Given the description of an element on the screen output the (x, y) to click on. 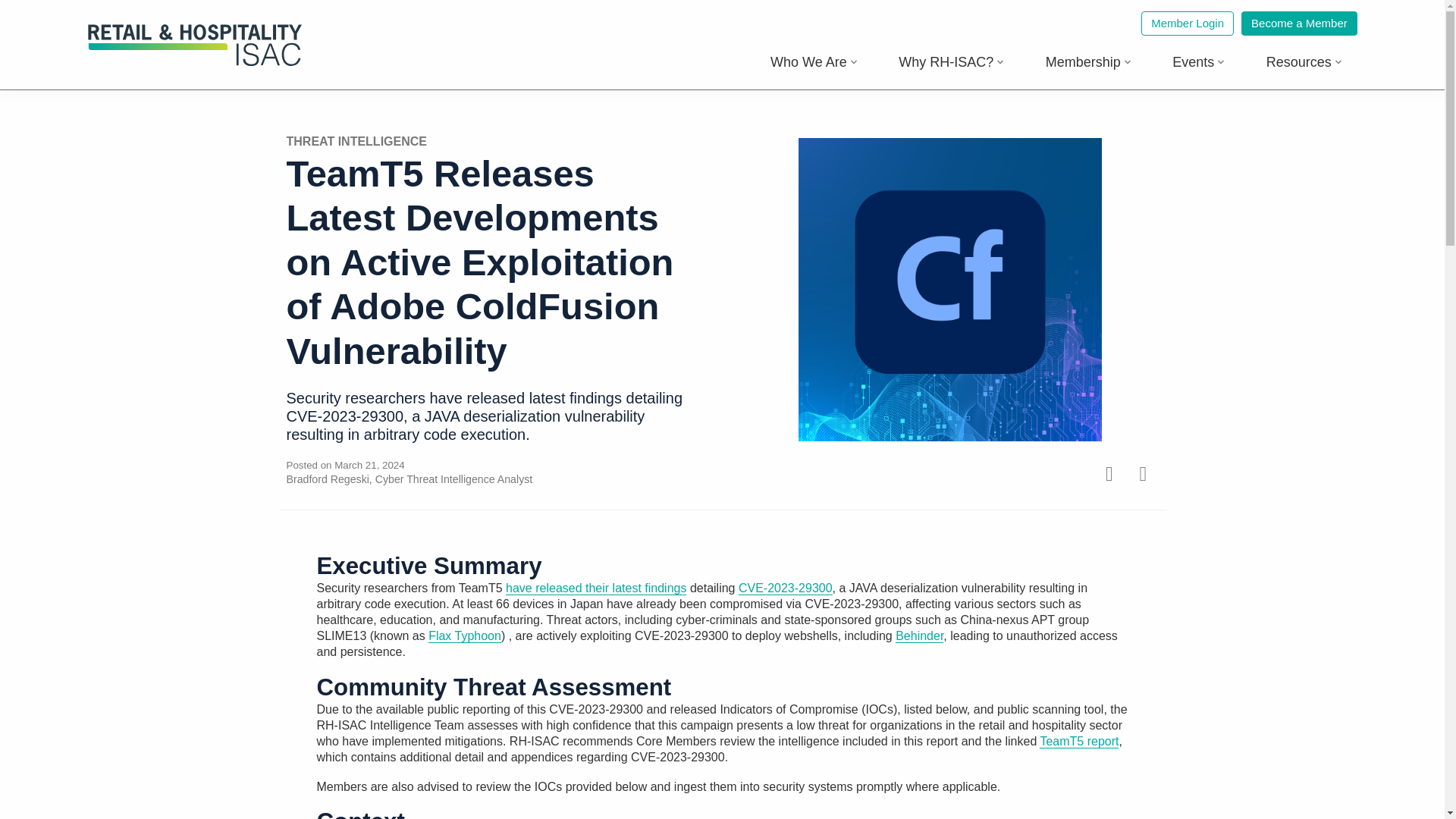
Membership (1088, 62)
Member Login (1187, 23)
Events (1198, 62)
Resources (1303, 62)
THREAT INTELLIGENCE (356, 141)
RH-ISAC (194, 62)
Why RH-ISAC? (951, 62)
Become a Member (1298, 23)
Who We Are (814, 62)
